Given the description of an element on the screen output the (x, y) to click on. 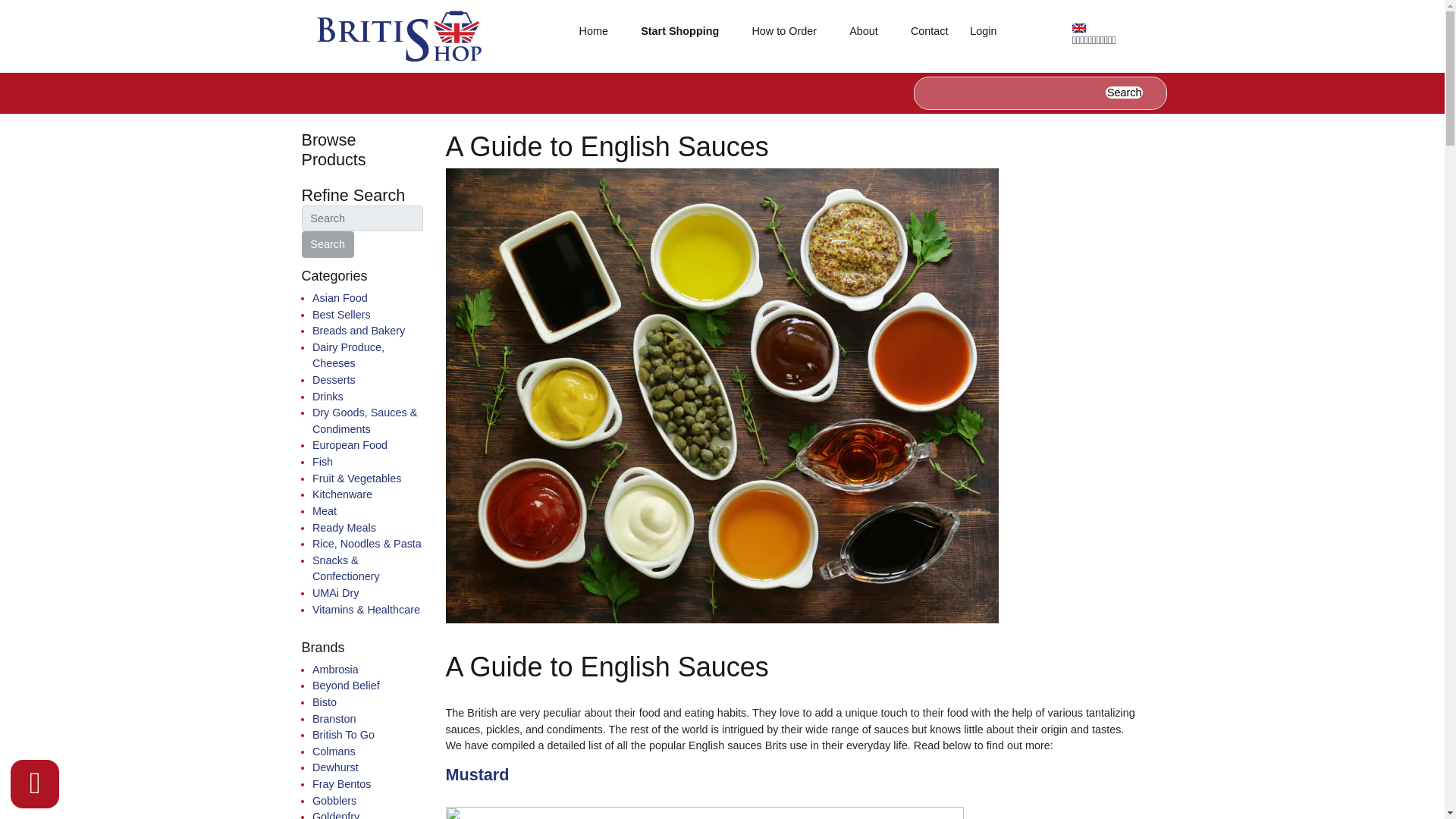
Search (1123, 92)
Home (592, 31)
Contact (929, 31)
Mustard (477, 773)
Login (1009, 31)
Search (327, 243)
Best Sellers (342, 314)
About (863, 31)
Search (327, 243)
Message us, Live Chat powered by AWcode (34, 784)
Asian Food (340, 297)
Breads and Bakery (358, 330)
How to Order (783, 31)
Dairy Produce, Cheeses (348, 355)
Drinks (328, 396)
